Given the description of an element on the screen output the (x, y) to click on. 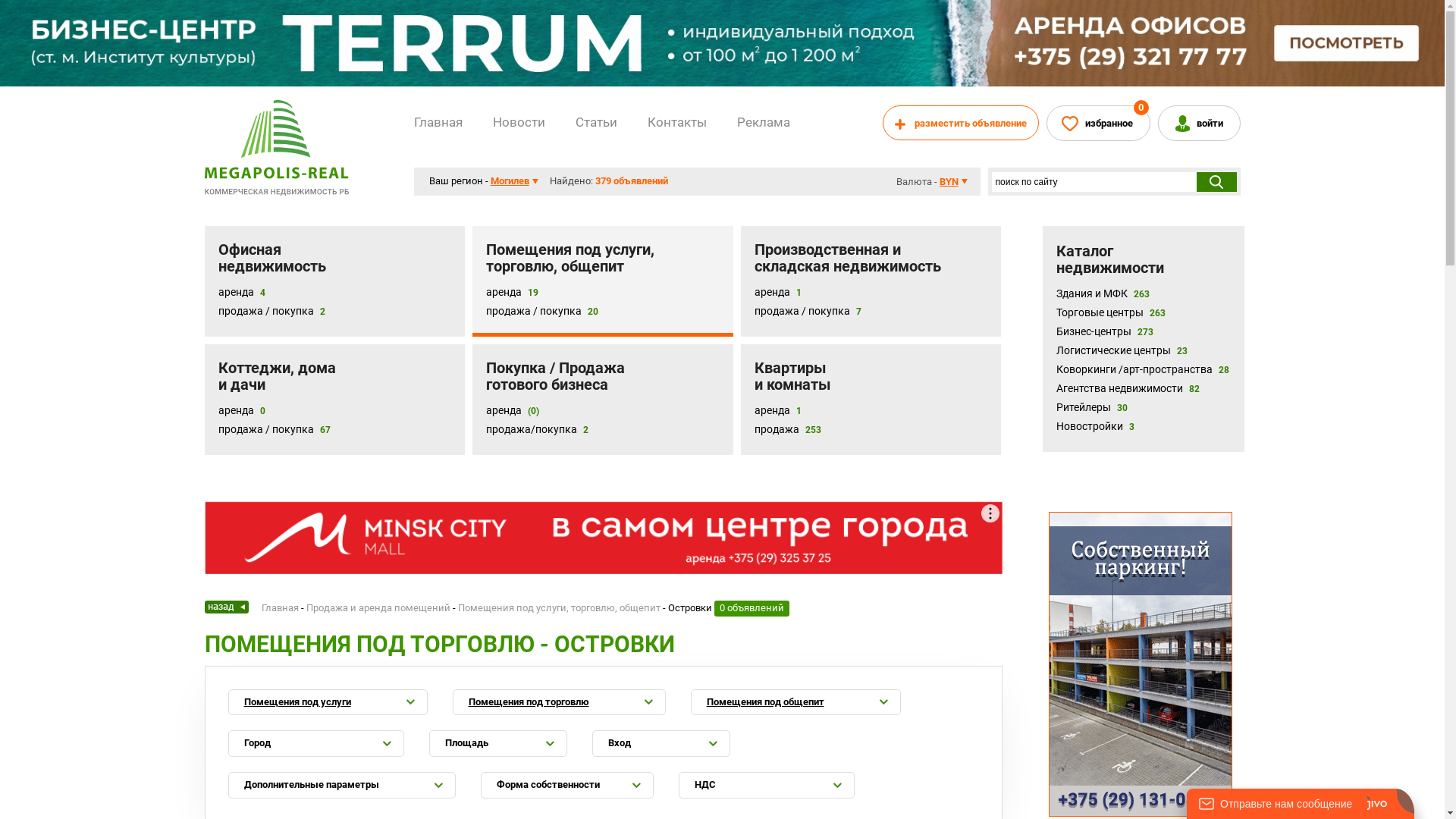
BYN Element type: text (953, 181)
